Given the description of an element on the screen output the (x, y) to click on. 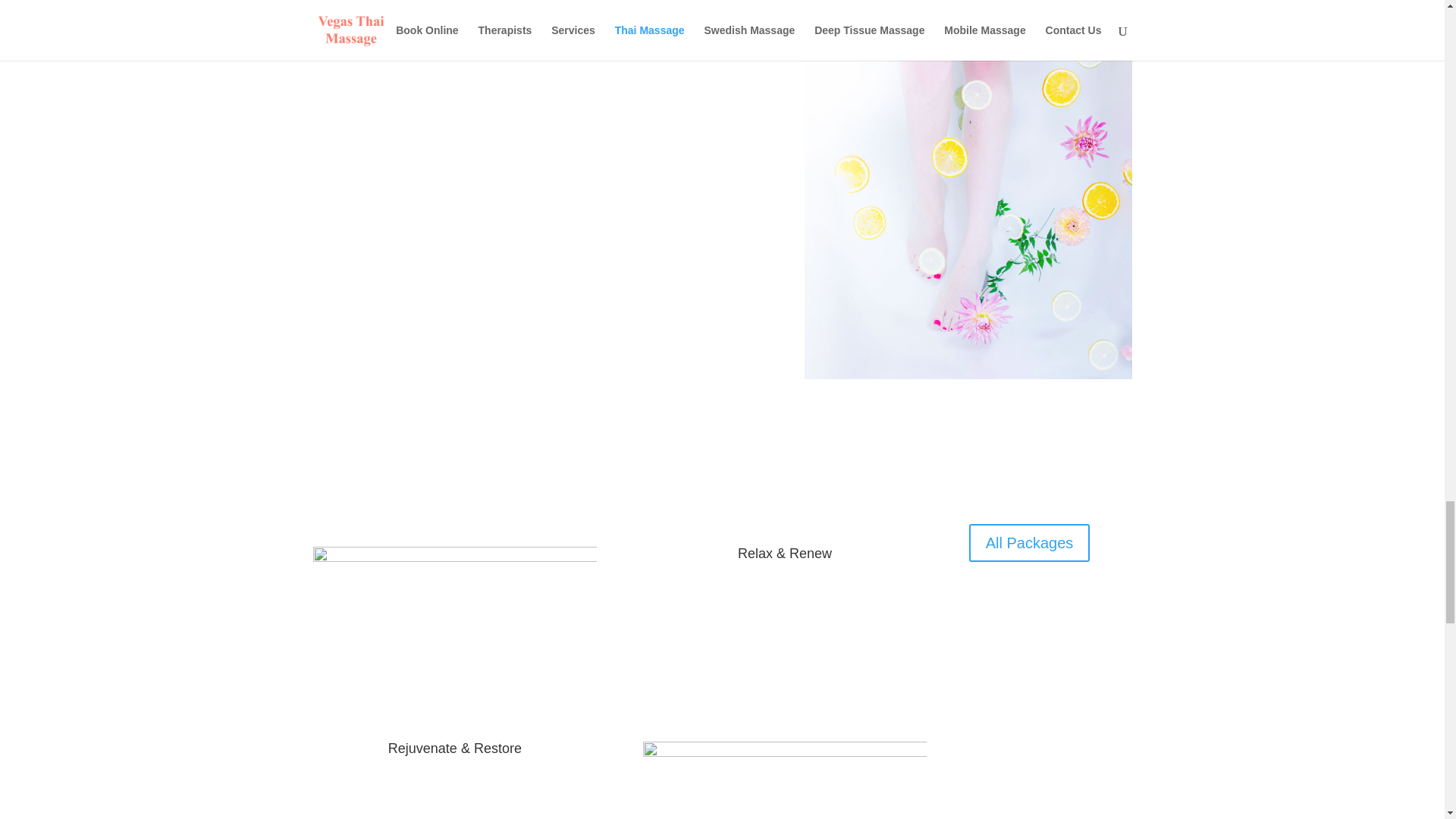
All Packages (1029, 542)
